Given the description of an element on the screen output the (x, y) to click on. 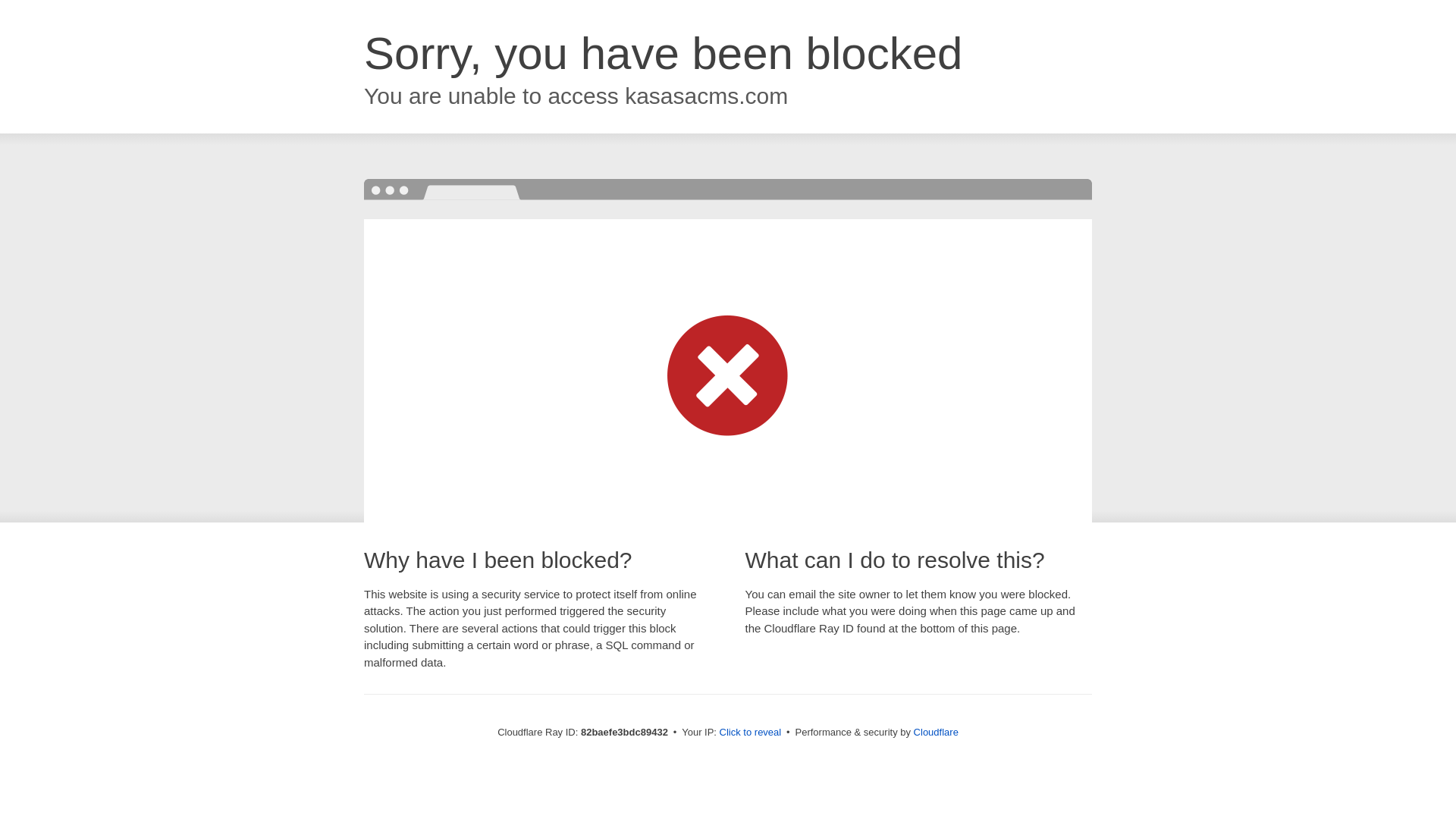
Click to reveal Element type: text (750, 732)
Cloudflare Element type: text (935, 731)
